Given the description of an element on the screen output the (x, y) to click on. 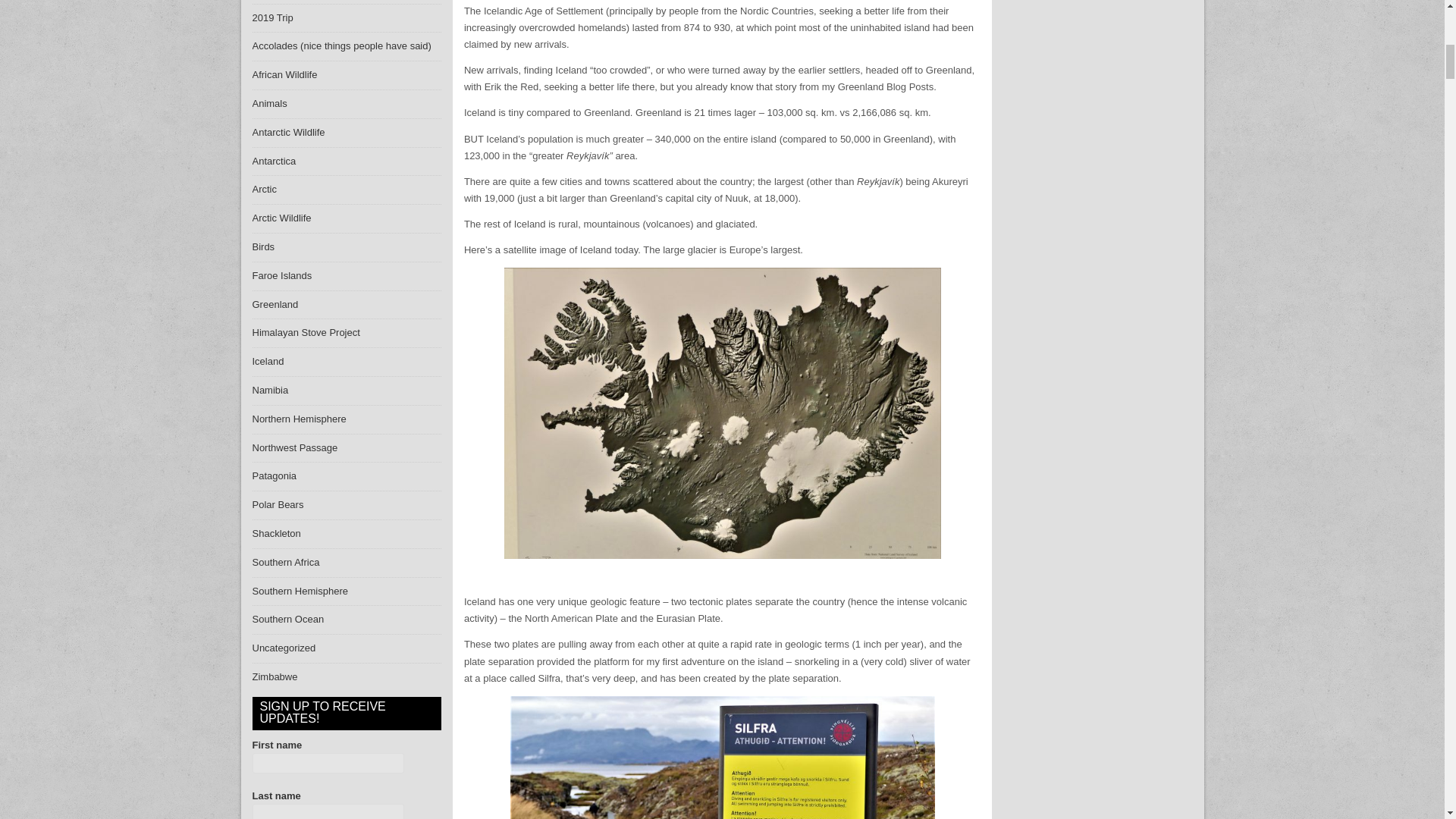
Last name (327, 811)
First name (327, 762)
